Given the description of an element on the screen output the (x, y) to click on. 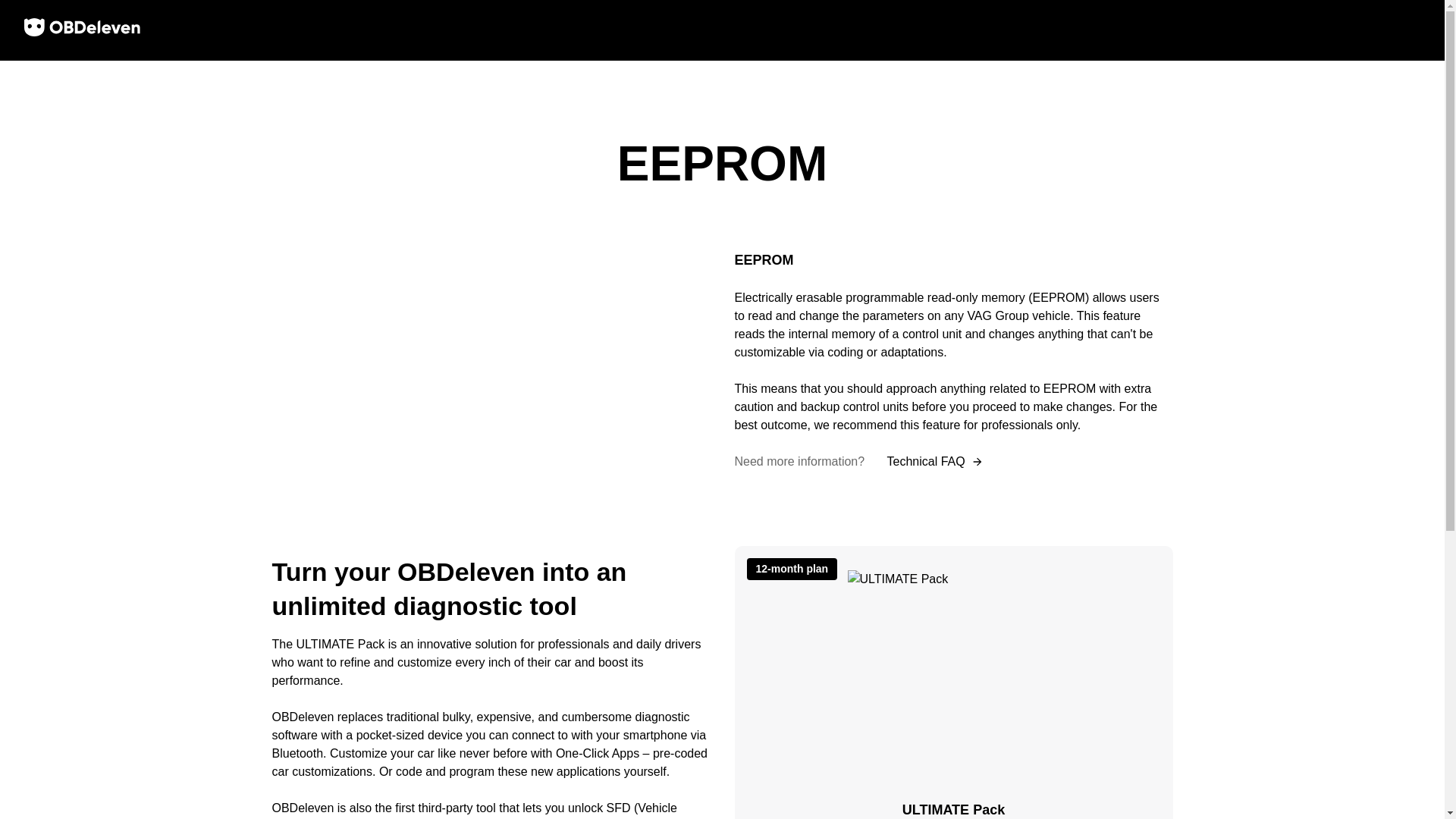
Technical FAQ (934, 461)
